Given the description of an element on the screen output the (x, y) to click on. 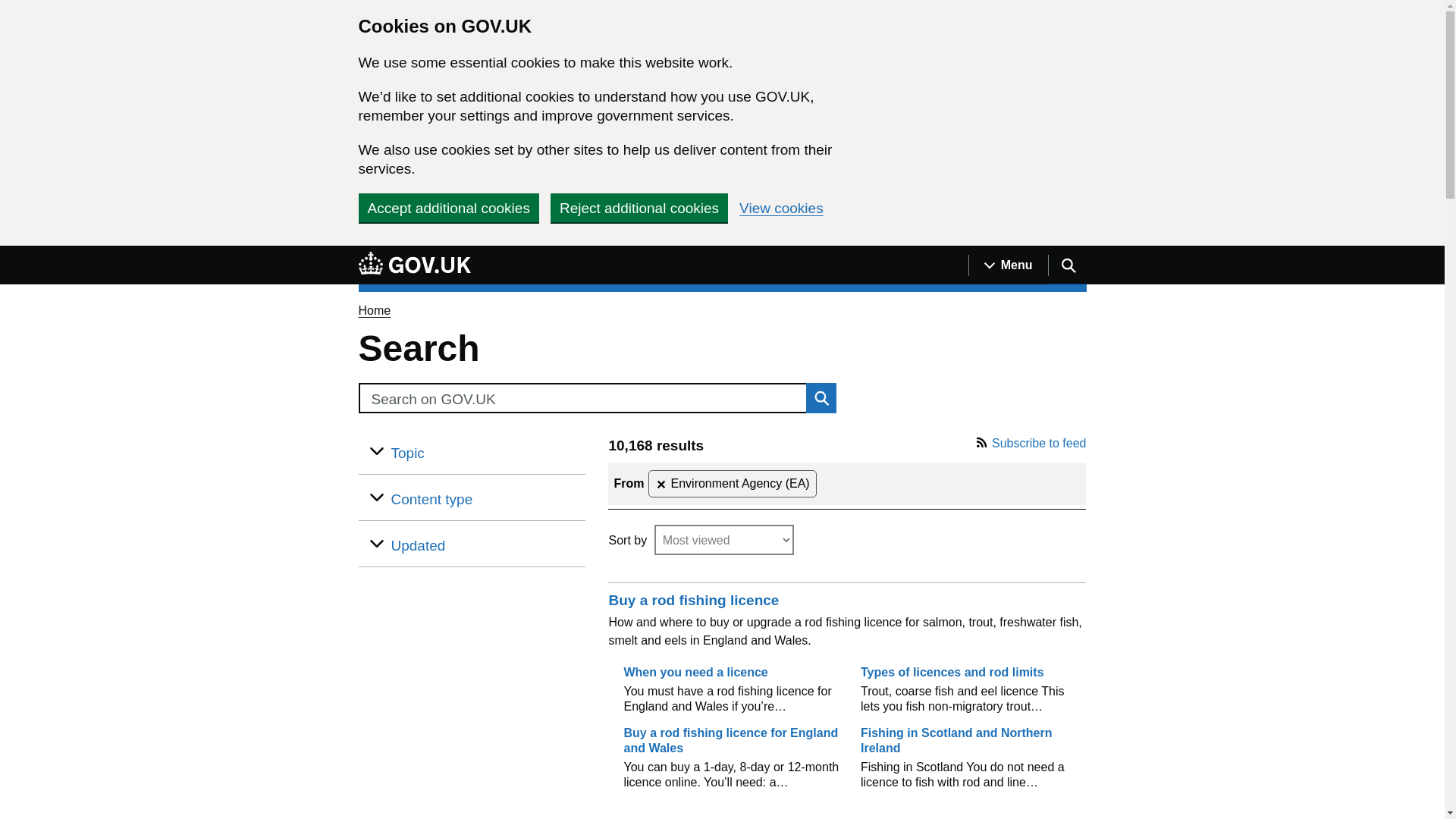
Menu (1008, 265)
Skip to results (369, 443)
Search (581, 398)
Home (374, 309)
Fishing in Scotland and Northern Ireland (955, 740)
Accept additional cookies (448, 207)
Types of licences and rod limits (951, 671)
Content type (432, 498)
Skip to results (619, 470)
GOV.UK (414, 262)
View cookies (781, 207)
GOV.UK (414, 264)
When you need a licence (695, 671)
Topic (408, 452)
Reject additional cookies (639, 207)
